Given the description of an element on the screen output the (x, y) to click on. 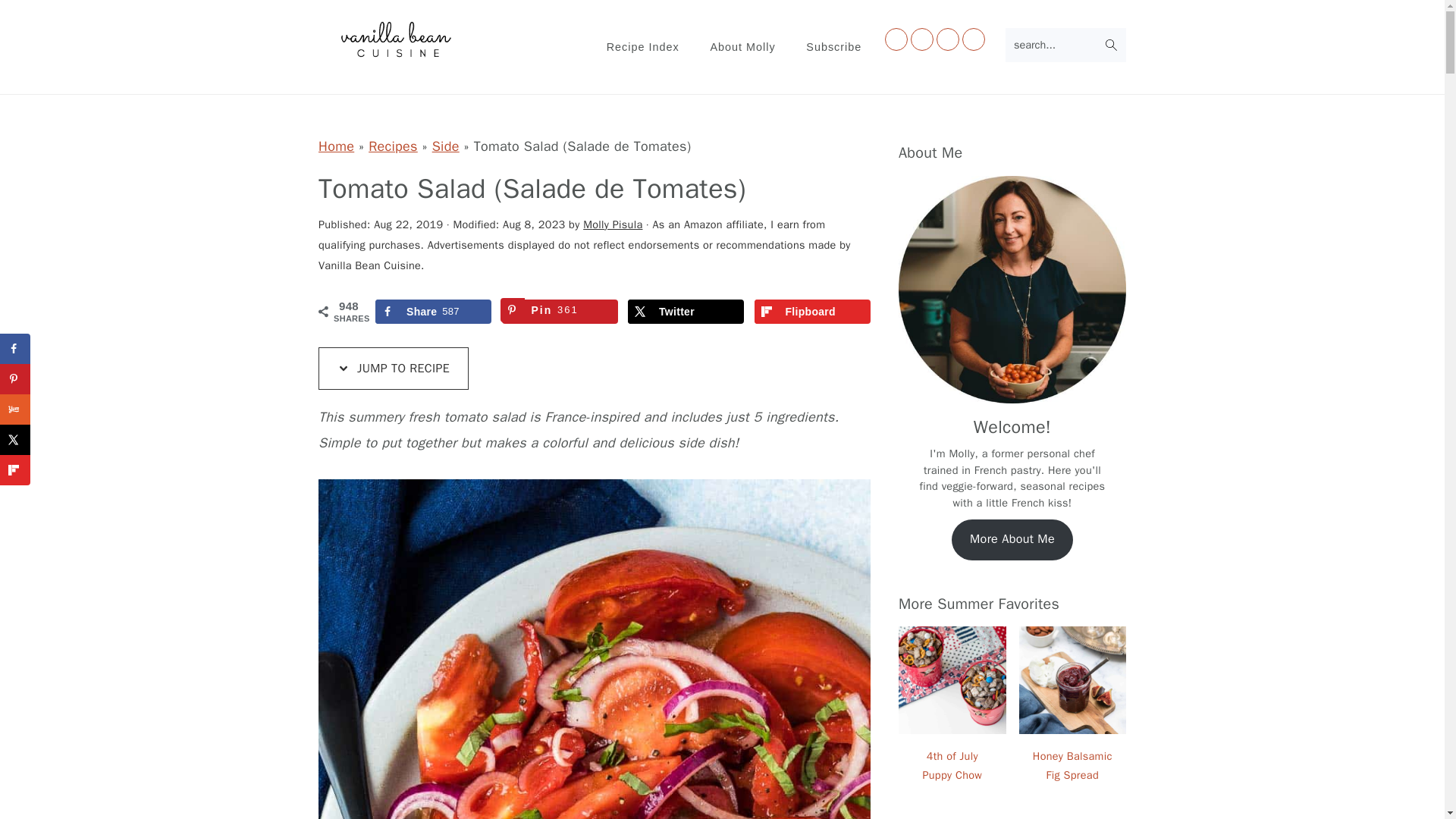
Recipe Index (642, 46)
Vanilla Bean Cuisine (399, 52)
Vanilla Bean Cuisine (399, 40)
Save to Pinterest (559, 311)
Share on Facebook (15, 348)
Side (446, 146)
Share on Facebook (433, 311)
Save to Pinterest (15, 378)
About Molly (742, 46)
Share on Flipboard (15, 470)
Share on Flipboard (811, 311)
Share on X (685, 311)
Share on X (15, 440)
